Given the description of an element on the screen output the (x, y) to click on. 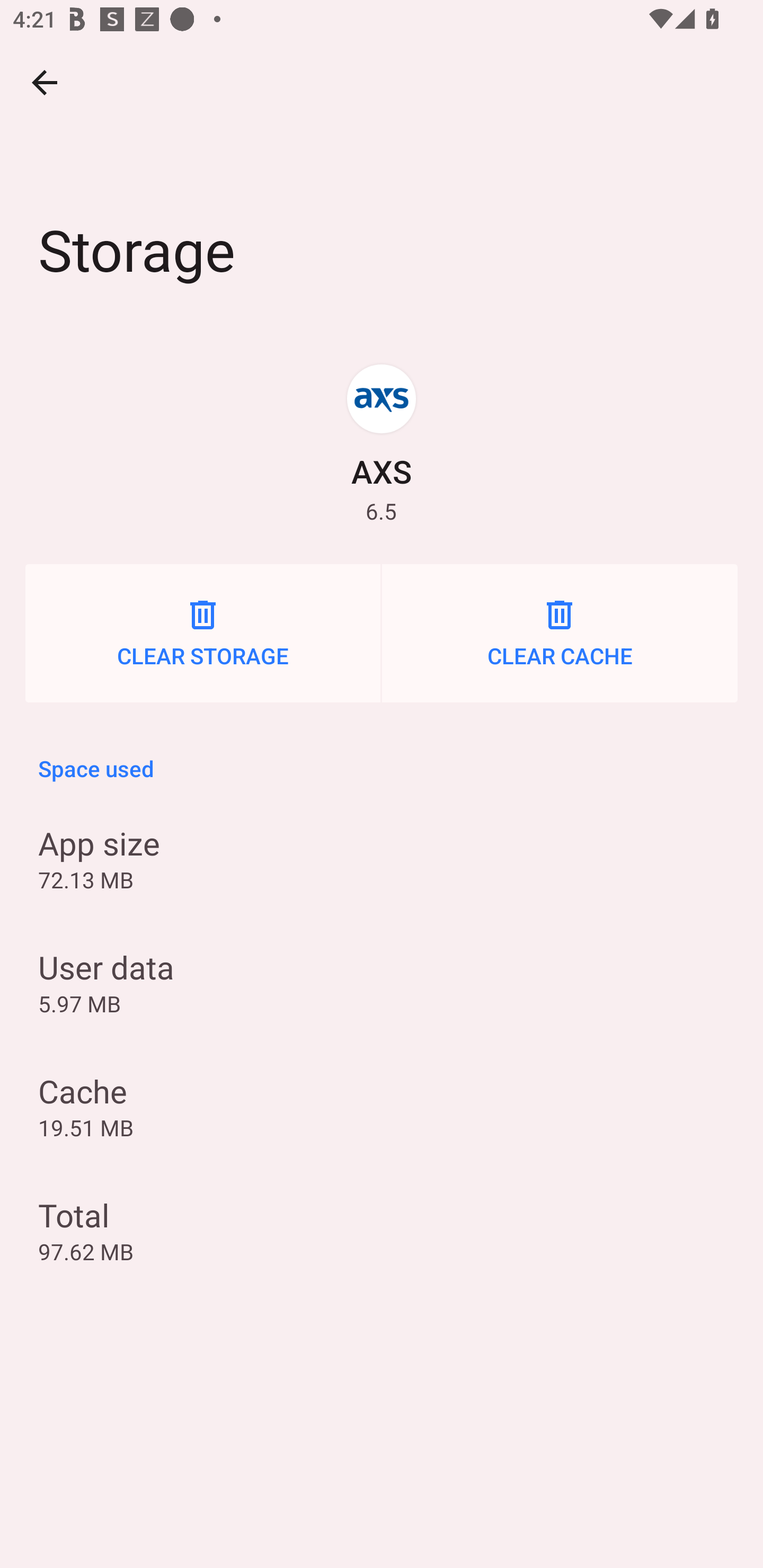
Navigate up (44, 82)
AXS 6.5 (381, 442)
CLEAR STORAGE (202, 633)
CLEAR CACHE (559, 633)
